Given the description of an element on the screen output the (x, y) to click on. 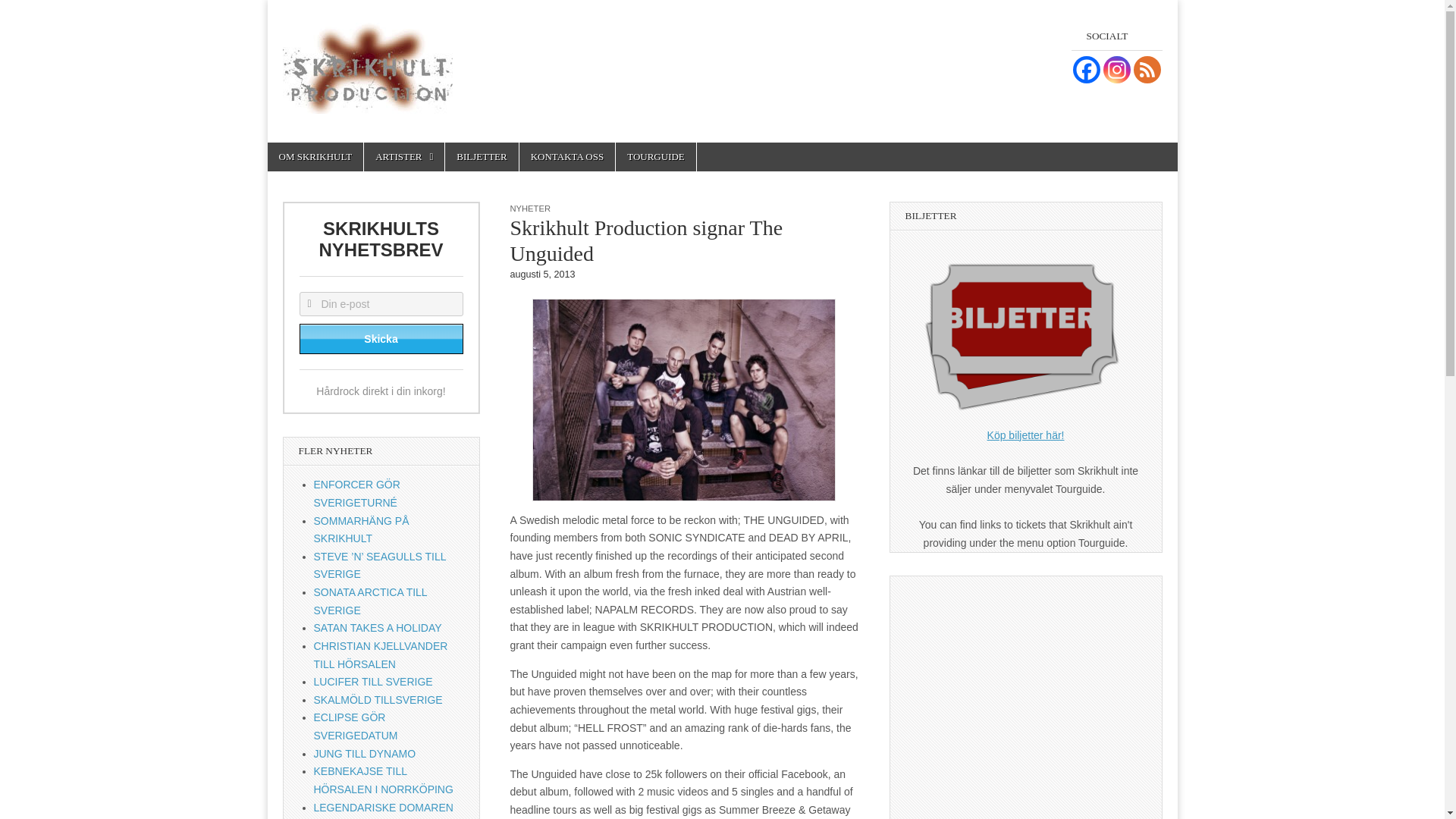
TOURGUIDE (655, 156)
ARTISTER (404, 156)
OM SKRIKHULT (314, 156)
SONATA ARCTICA TILL SVERIGE (371, 601)
Skrikhult Production (434, 160)
Instagram (1115, 69)
Facebook (1085, 69)
NYHETER (529, 207)
Skrikhult Production (366, 59)
Skrikhult Production (434, 160)
BILJETTER (481, 156)
Skicka (380, 338)
Skicka (380, 338)
